Given the description of an element on the screen output the (x, y) to click on. 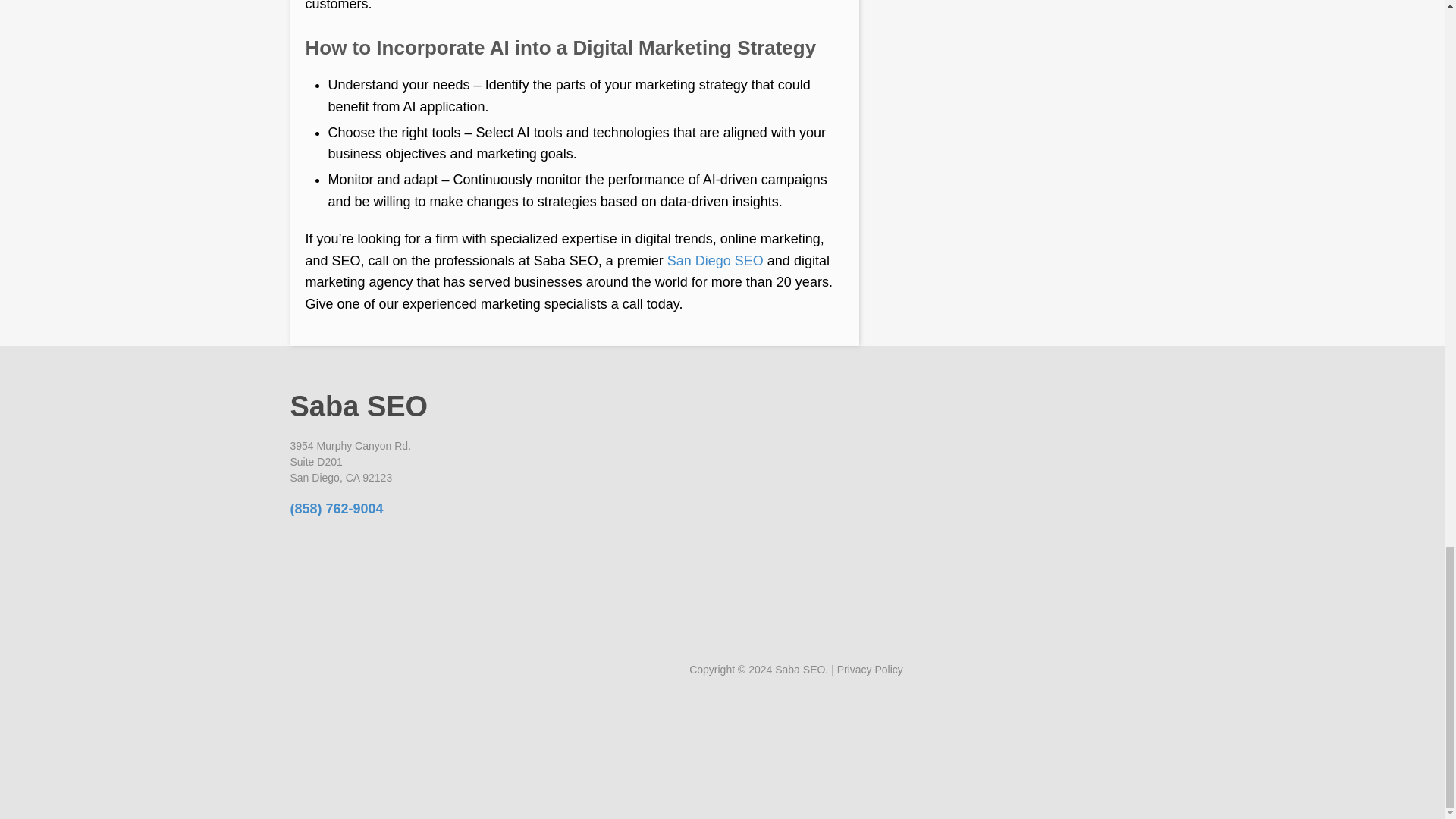
San Diego SEO (714, 260)
